Given the description of an element on the screen output the (x, y) to click on. 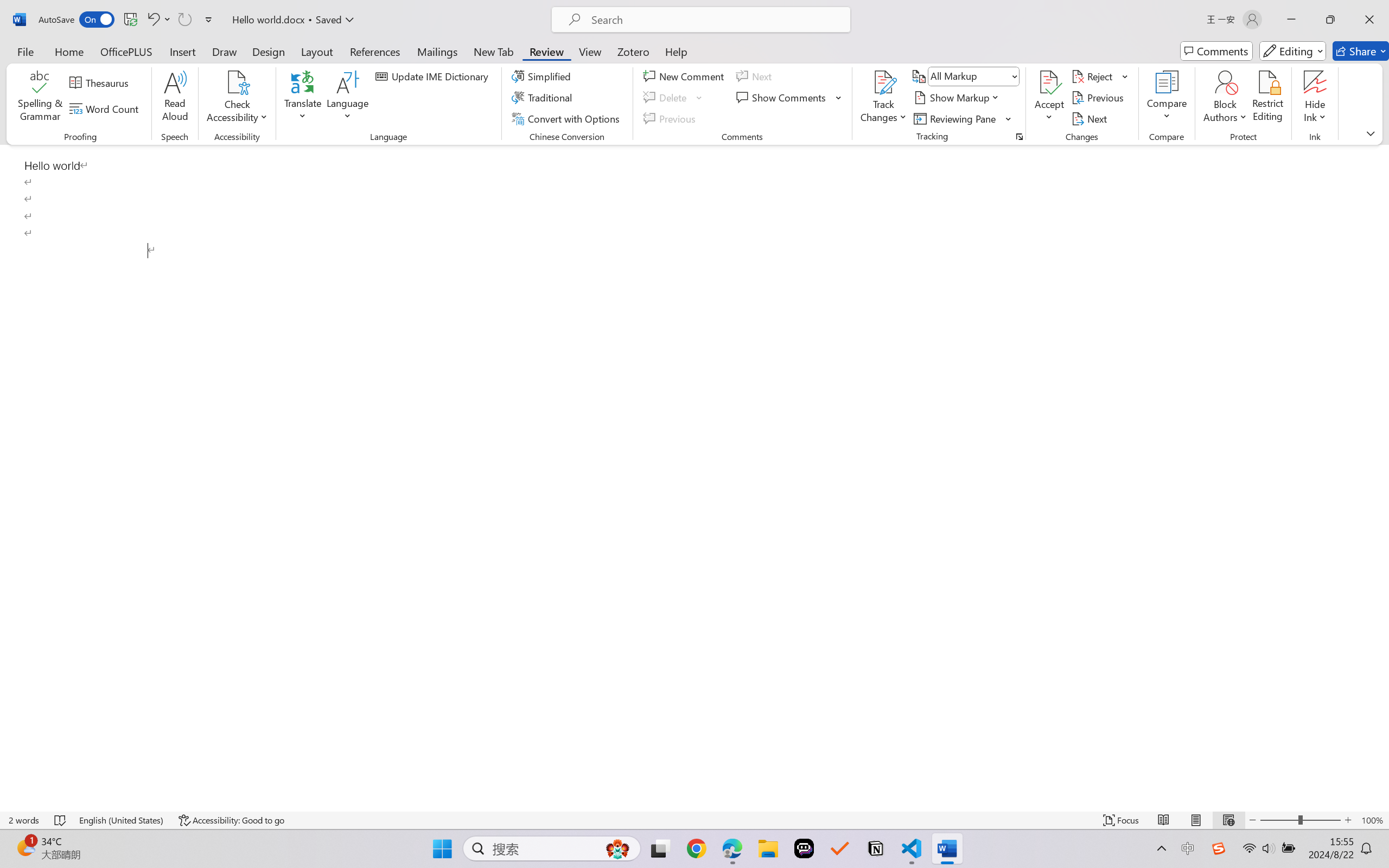
Accessibility Checker Accessibility: Good to go (215, 837)
Export to Video (317, 62)
Preview (16, 62)
Czech (1253, 246)
Zoom 90% (1364, 837)
Reset to Cameo (257, 62)
Cameo (49, 62)
Screen Recording (157, 62)
